Given the description of an element on the screen output the (x, y) to click on. 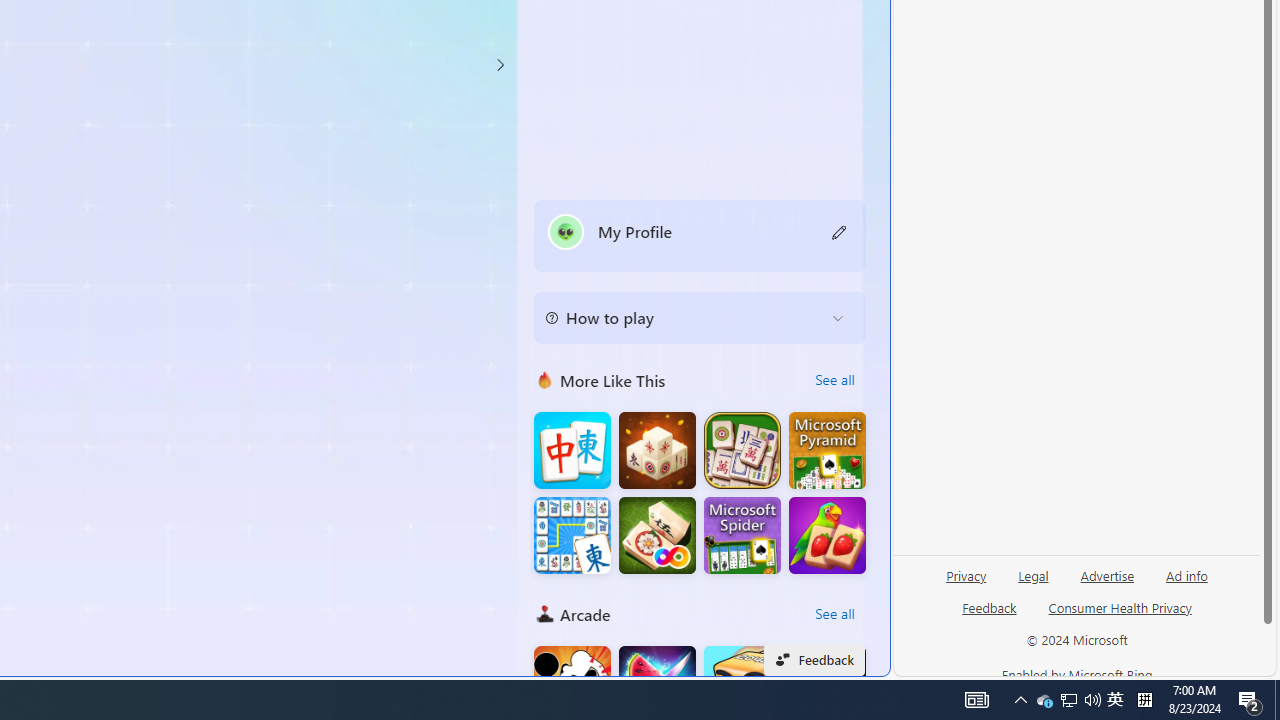
Privacy (966, 583)
See all (834, 614)
Microsoft Spider Solitaire (742, 535)
